Given the description of an element on the screen output the (x, y) to click on. 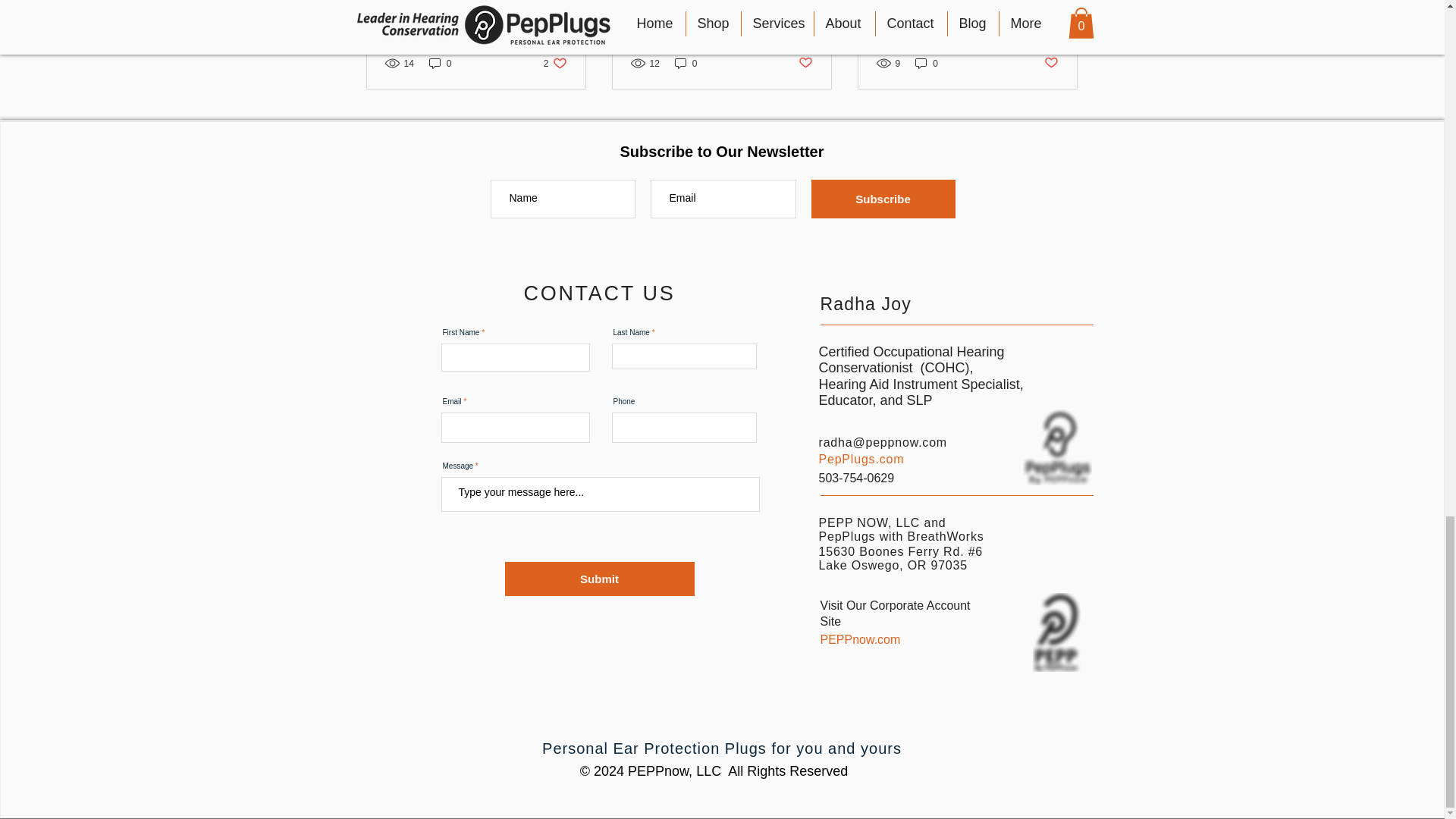
0 (555, 63)
0 (926, 63)
Post not marked as liked (685, 63)
Building on Land Beyond Zion (1050, 63)
Post not marked as liked (721, 13)
Kitchen clanging: Restaurant Industry Hazards are Real (804, 63)
0 (476, 13)
Subscribe (440, 63)
